Given the description of an element on the screen output the (x, y) to click on. 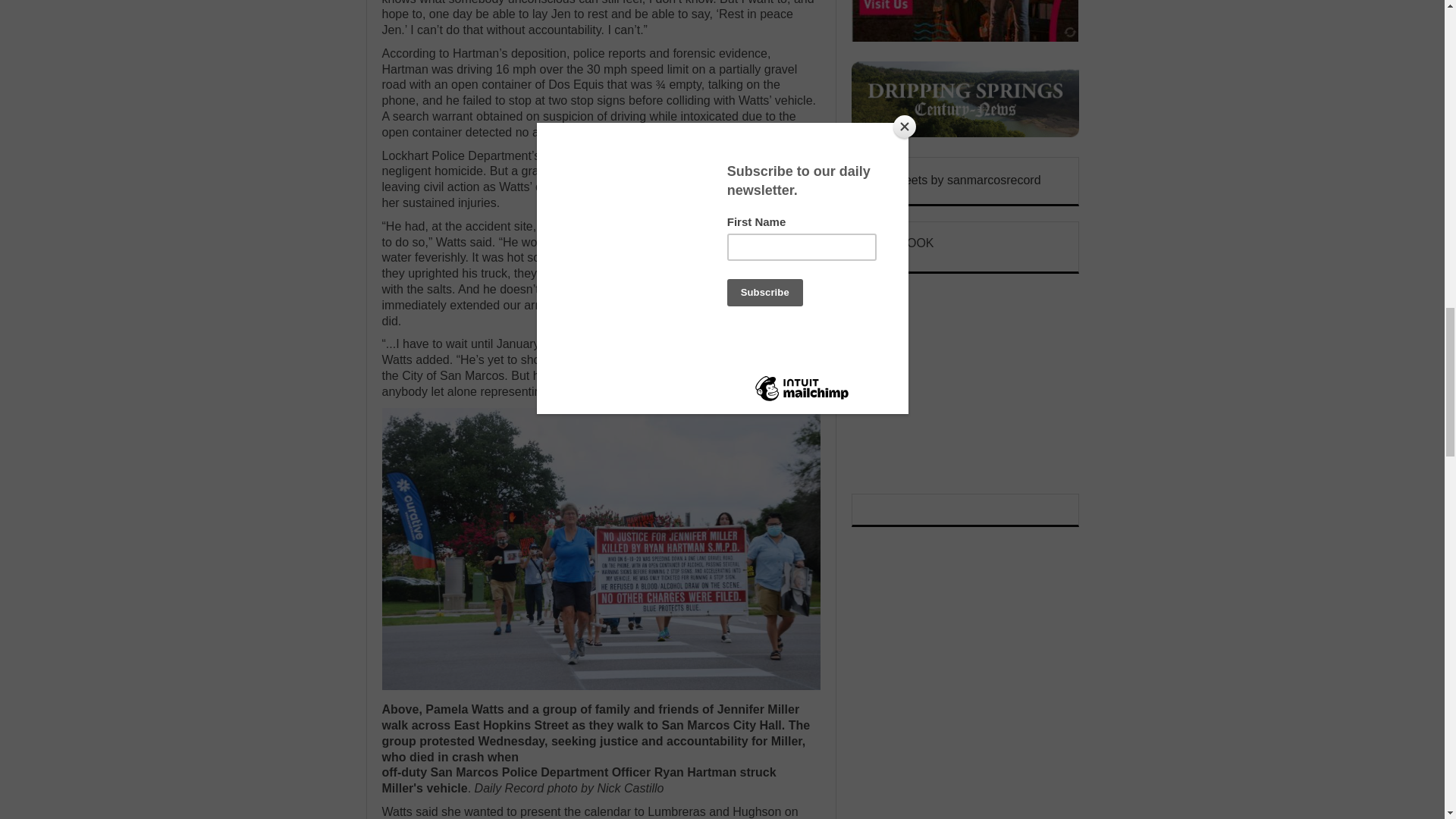
3rd party ad content (964, 383)
